Given the description of an element on the screen output the (x, y) to click on. 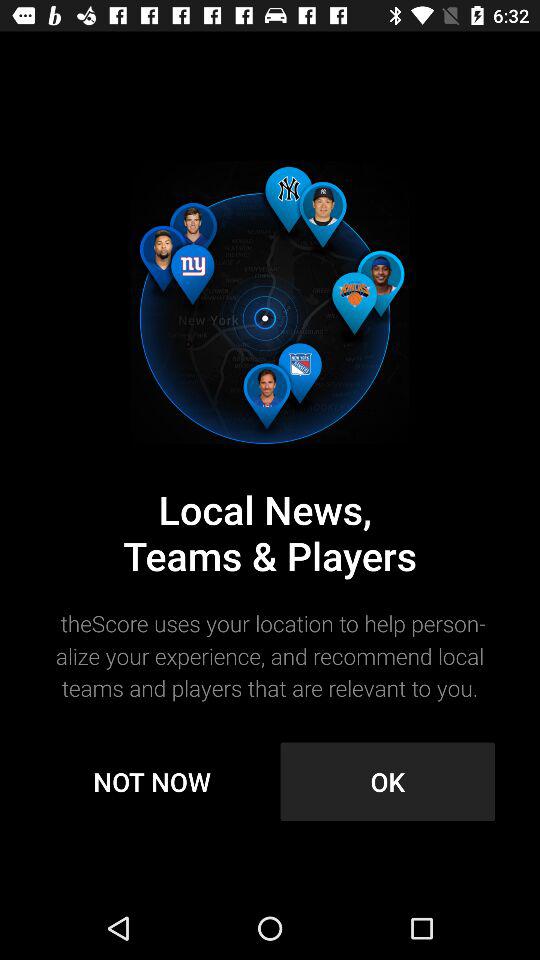
open icon to the right of not now (387, 781)
